Given the description of an element on the screen output the (x, y) to click on. 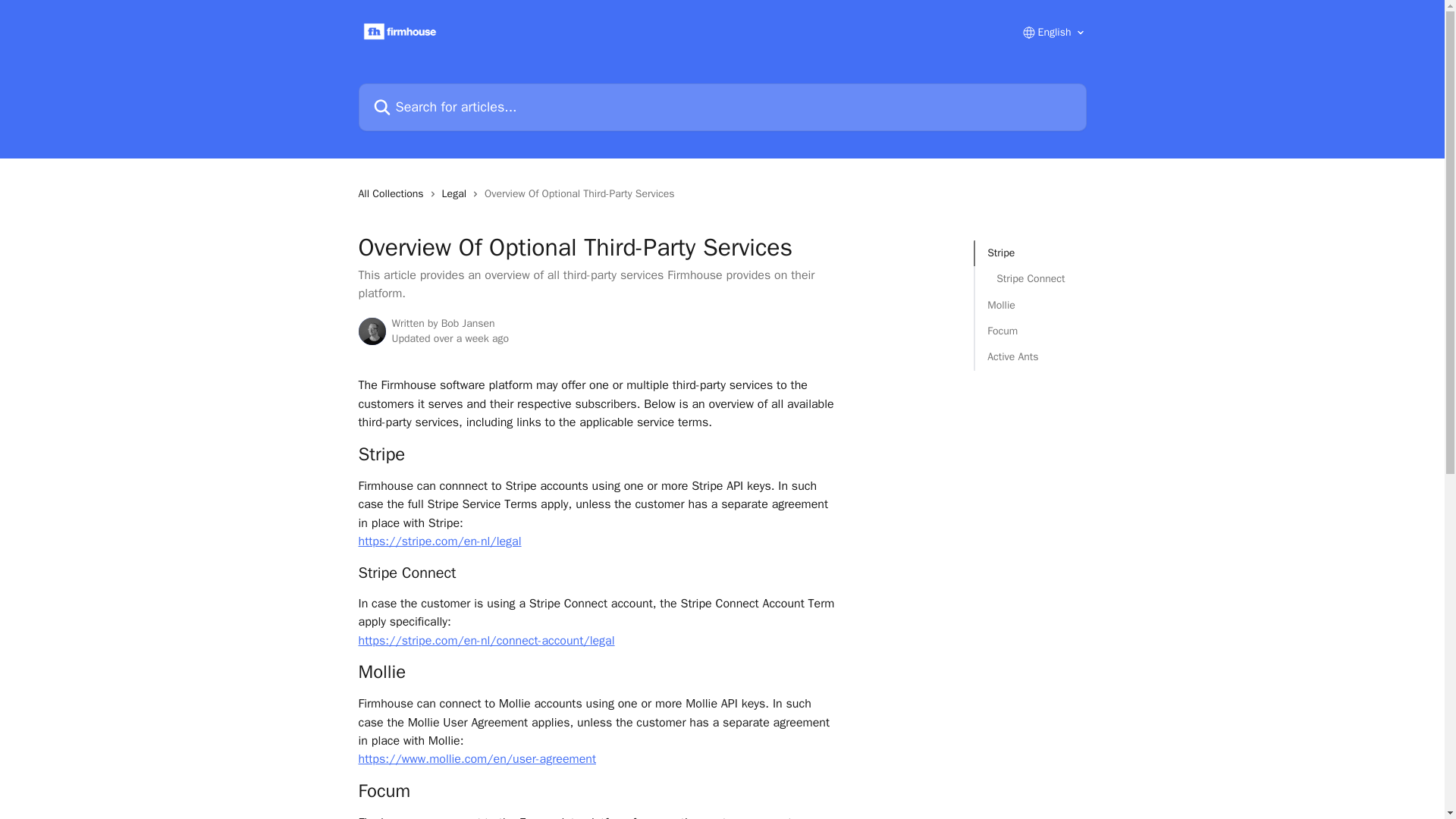
Legal (456, 193)
Focum (1030, 330)
All Collections (393, 193)
Active Ants (1030, 356)
Stripe Connect (1029, 279)
Stripe (1030, 252)
Mollie (1030, 305)
